Given the description of an element on the screen output the (x, y) to click on. 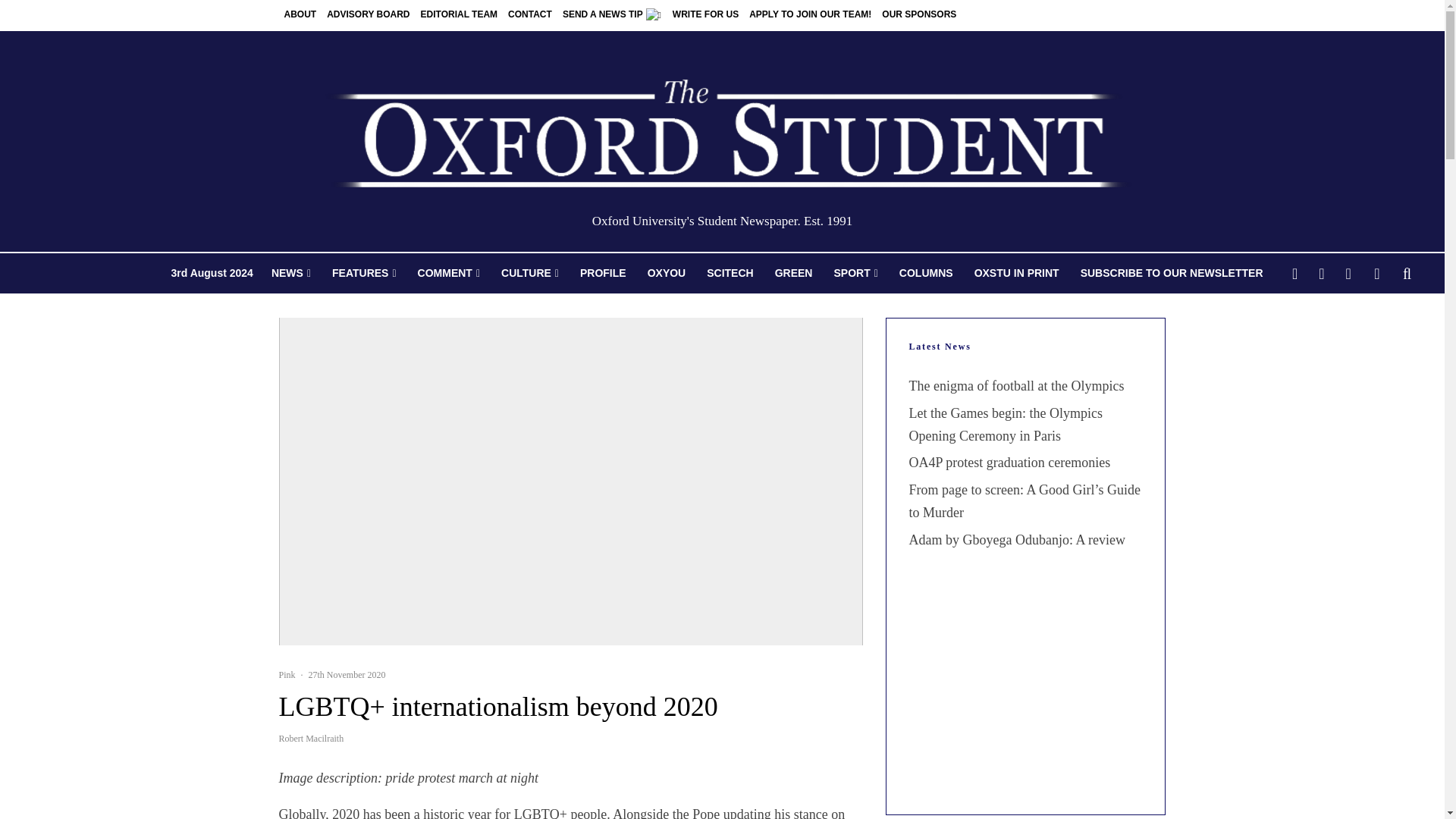
NEWS (290, 273)
WRITE FOR US (705, 15)
Advertisement (1024, 696)
EDITORIAL TEAM (458, 15)
ADVISORY BOARD (367, 15)
OUR SPONSORS (918, 15)
CONTACT (529, 15)
APPLY TO JOIN OUR TEAM! (810, 15)
ABOUT (300, 15)
SEND A NEWS TIP (611, 15)
FEATURES (364, 273)
